Given the description of an element on the screen output the (x, y) to click on. 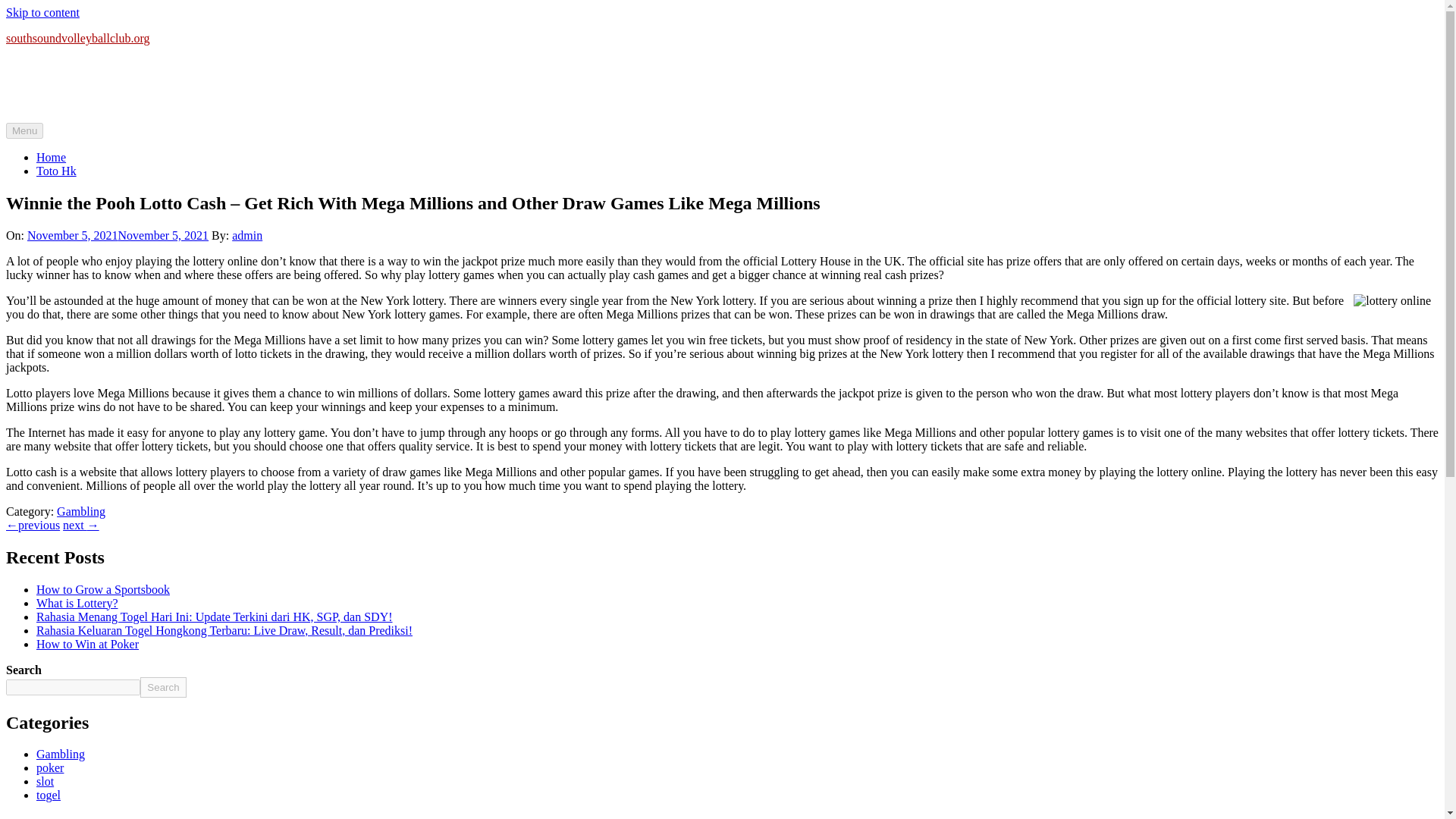
Skip to content (42, 11)
Search (162, 687)
Gambling (80, 511)
southsoundvolleyballclub.org (77, 38)
November 5, 2021November 5, 2021 (117, 235)
togel (48, 794)
poker (50, 767)
admin (246, 235)
Gambling (60, 753)
slot (44, 780)
Home (50, 156)
What is Lottery? (76, 603)
How to Grow a Sportsbook (103, 589)
